Given the description of an element on the screen output the (x, y) to click on. 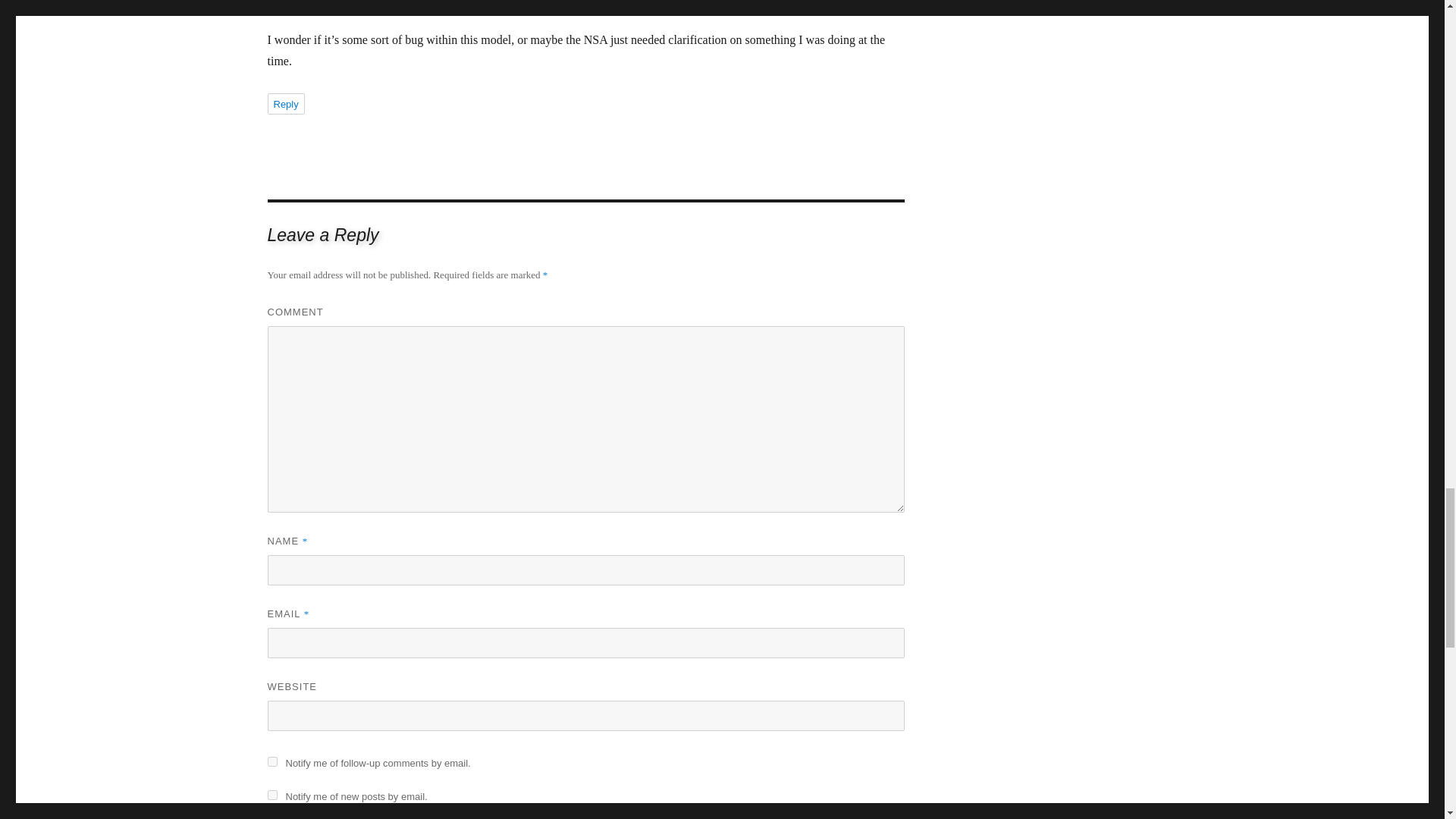
subscribe (271, 795)
Reply (285, 103)
subscribe (271, 761)
